Given the description of an element on the screen output the (x, y) to click on. 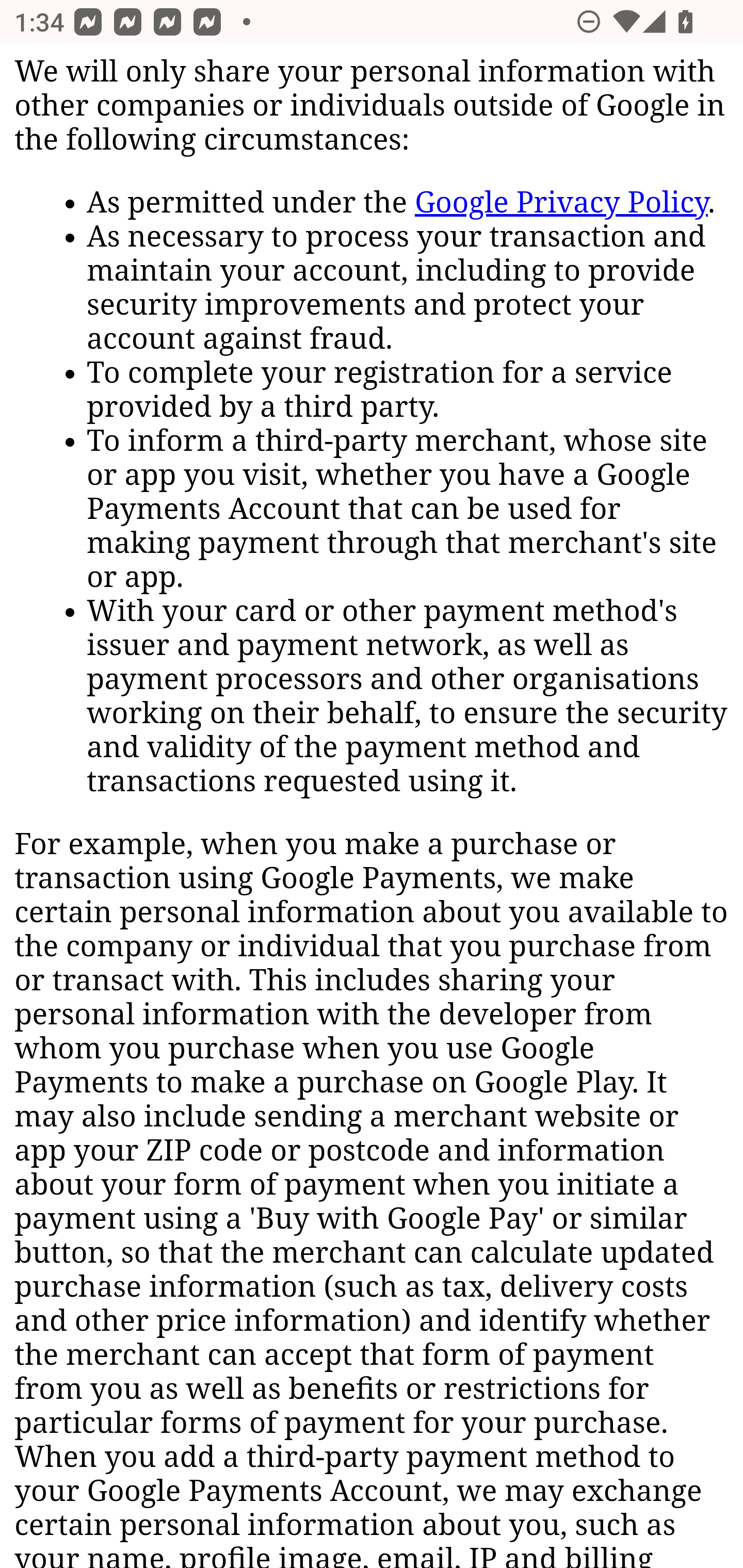
Google Privacy Policy (561, 204)
